Given the description of an element on the screen output the (x, y) to click on. 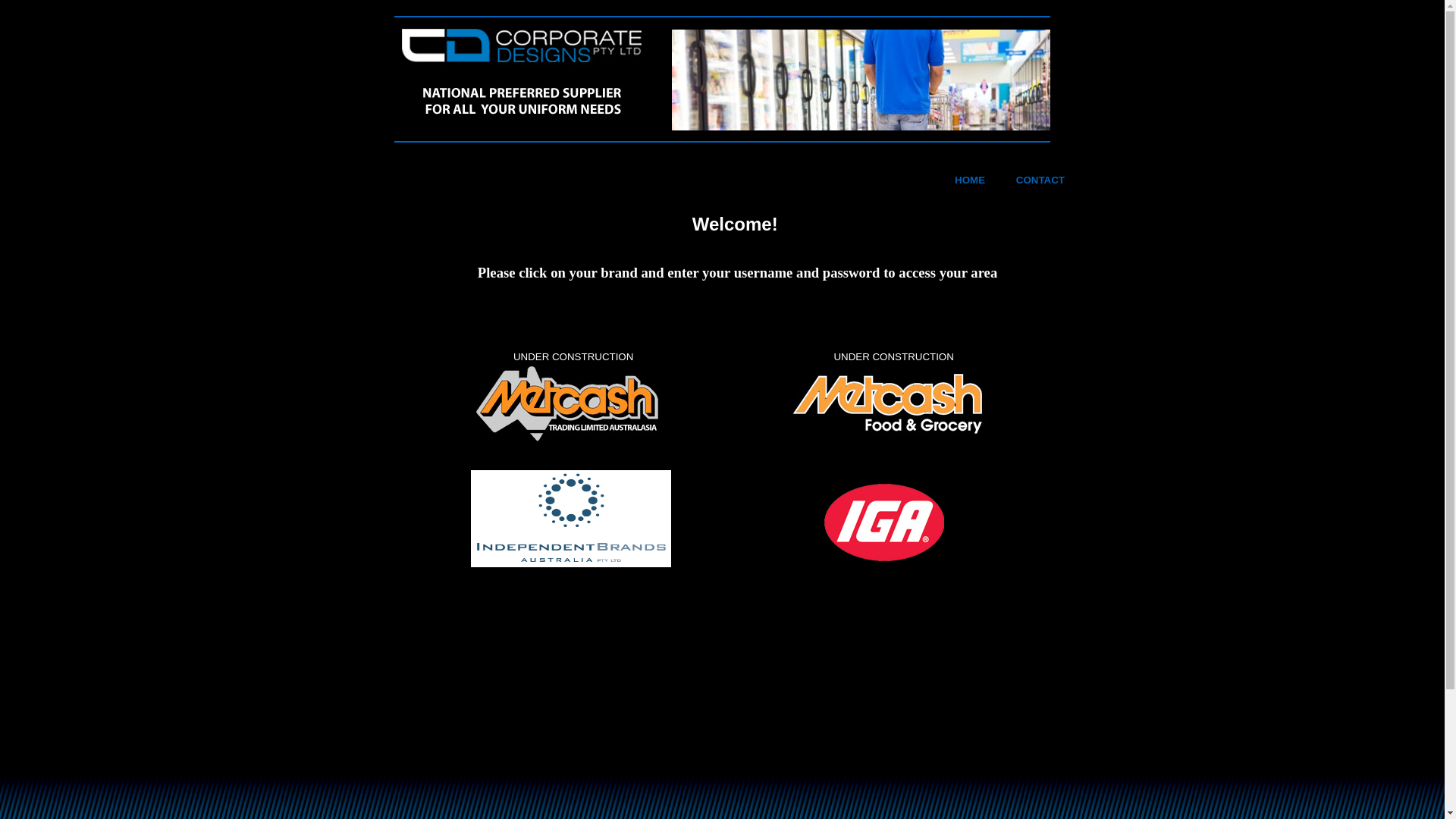
HOME Element type: text (969, 179)
image1 Element type: hover (860, 79)
CONTACT Element type: text (1040, 179)
